Given the description of an element on the screen output the (x, y) to click on. 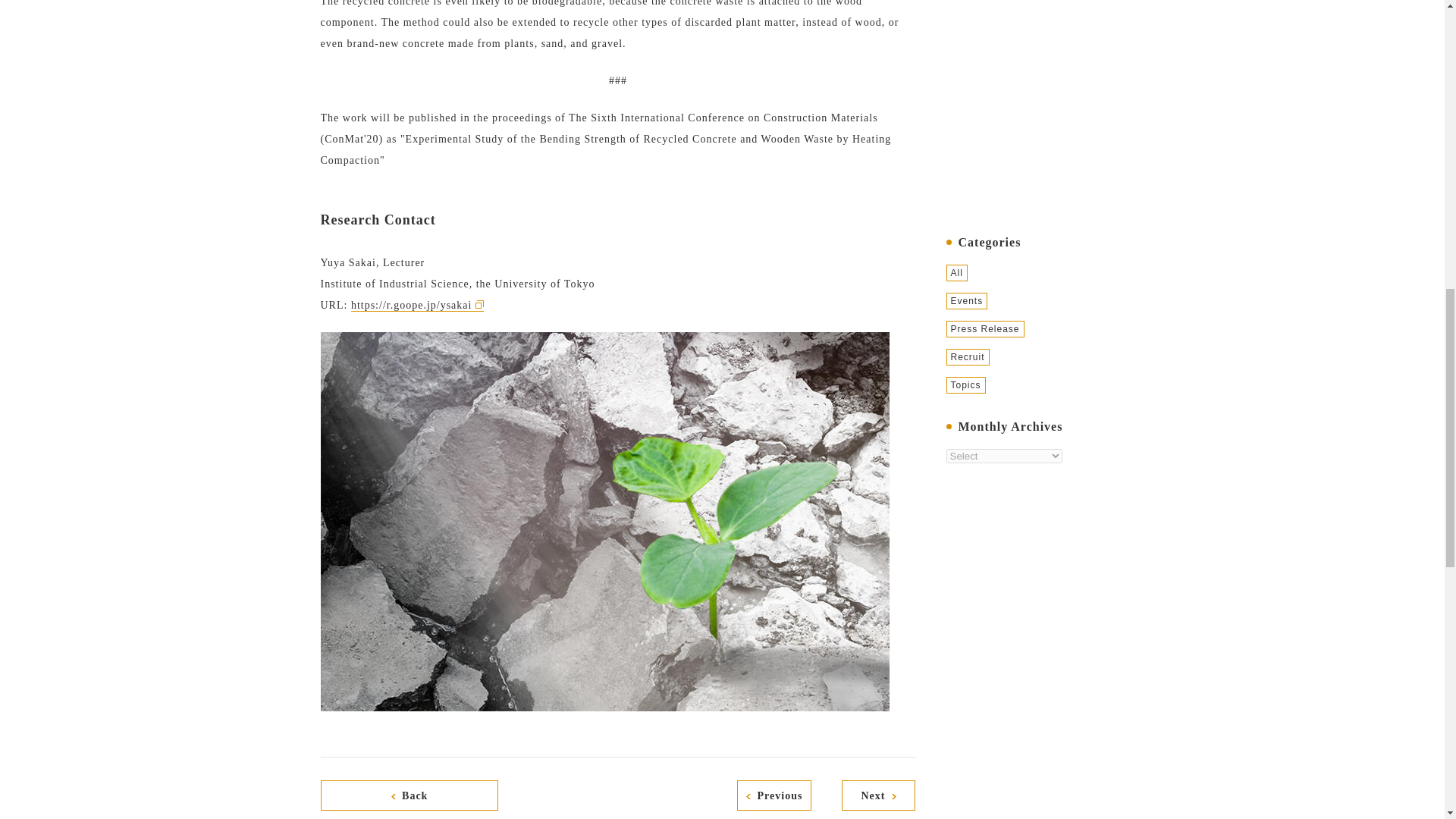
Next (878, 795)
Back (408, 795)
Previous (773, 795)
